Given the description of an element on the screen output the (x, y) to click on. 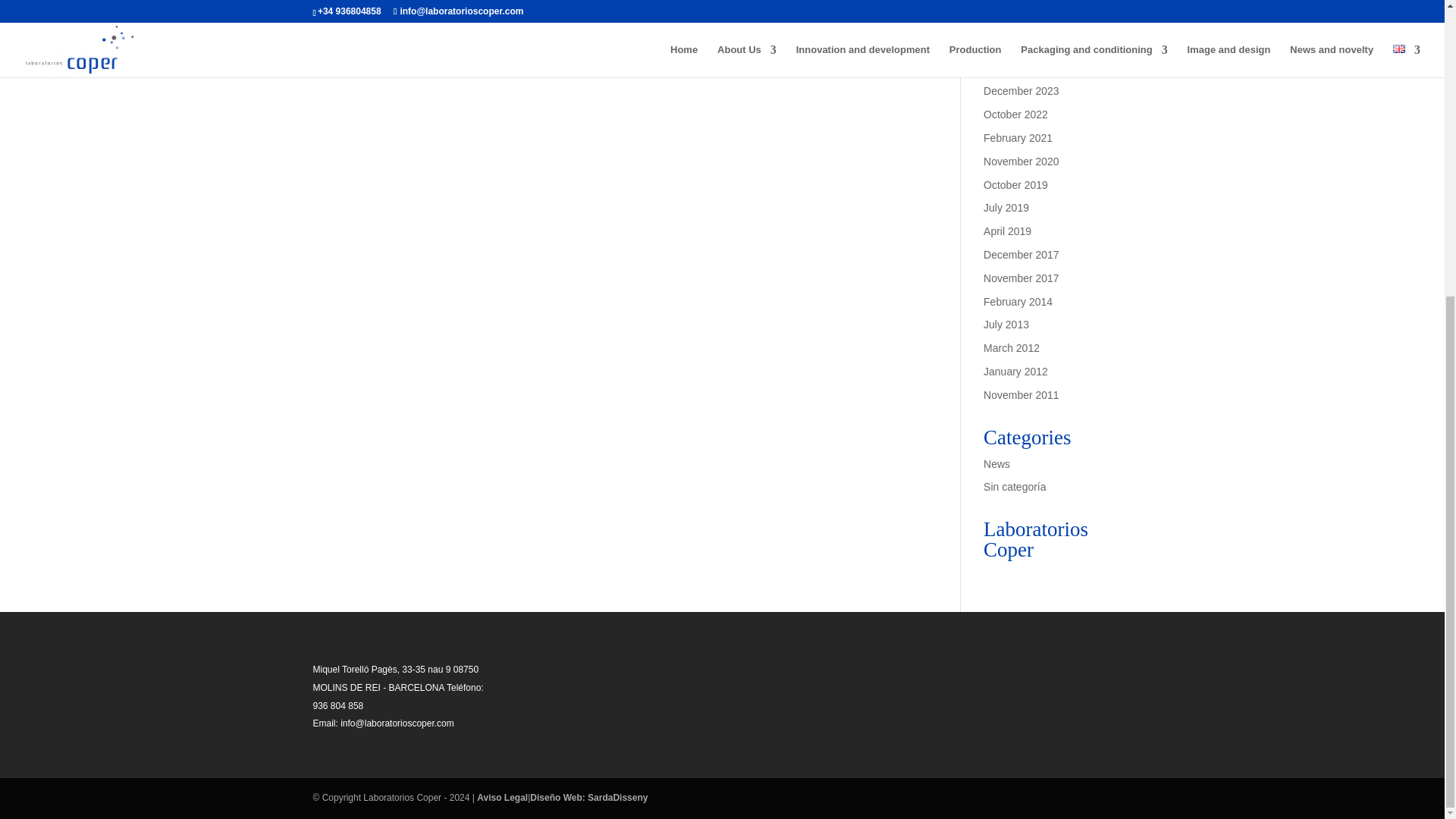
December 2017 (1021, 254)
October 2019 (1016, 184)
March 2012 (1011, 347)
February 2014 (1018, 301)
July 2019 (1006, 207)
January 2012 (1016, 371)
February 2021 (1018, 137)
July 2013 (1006, 324)
April 2019 (1007, 231)
March 2024 (1011, 68)
October 2022 (1016, 114)
News (997, 463)
November 2017 (1021, 277)
December 2023 (1021, 91)
November 2011 (1021, 395)
